Given the description of an element on the screen output the (x, y) to click on. 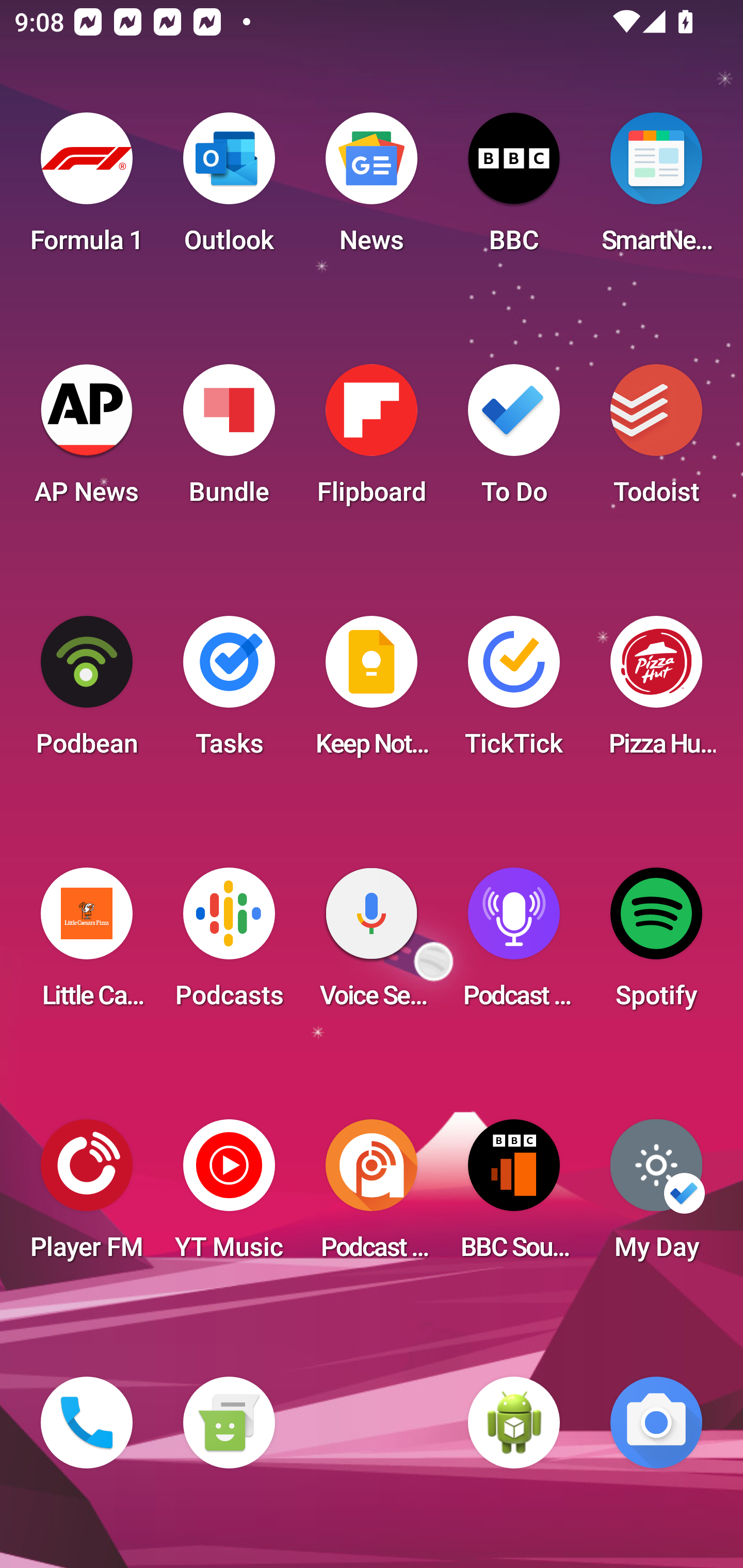
Formula 1 (86, 188)
Outlook (228, 188)
News (371, 188)
BBC (513, 188)
SmartNews (656, 188)
AP News (86, 440)
Bundle (228, 440)
Flipboard (371, 440)
To Do (513, 440)
Todoist (656, 440)
Podbean (86, 692)
Tasks (228, 692)
Keep Notes (371, 692)
TickTick (513, 692)
Pizza Hut HK & Macau (656, 692)
Little Caesars Pizza (86, 943)
Podcasts (228, 943)
Voice Search (371, 943)
Podcast Player (513, 943)
Spotify (656, 943)
Player FM (86, 1195)
YT Music (228, 1195)
Podcast Addict (371, 1195)
BBC Sounds (513, 1195)
My Day (656, 1195)
Phone (86, 1422)
Messaging (228, 1422)
WebView Browser Tester (513, 1422)
Camera (656, 1422)
